Given the description of an element on the screen output the (x, y) to click on. 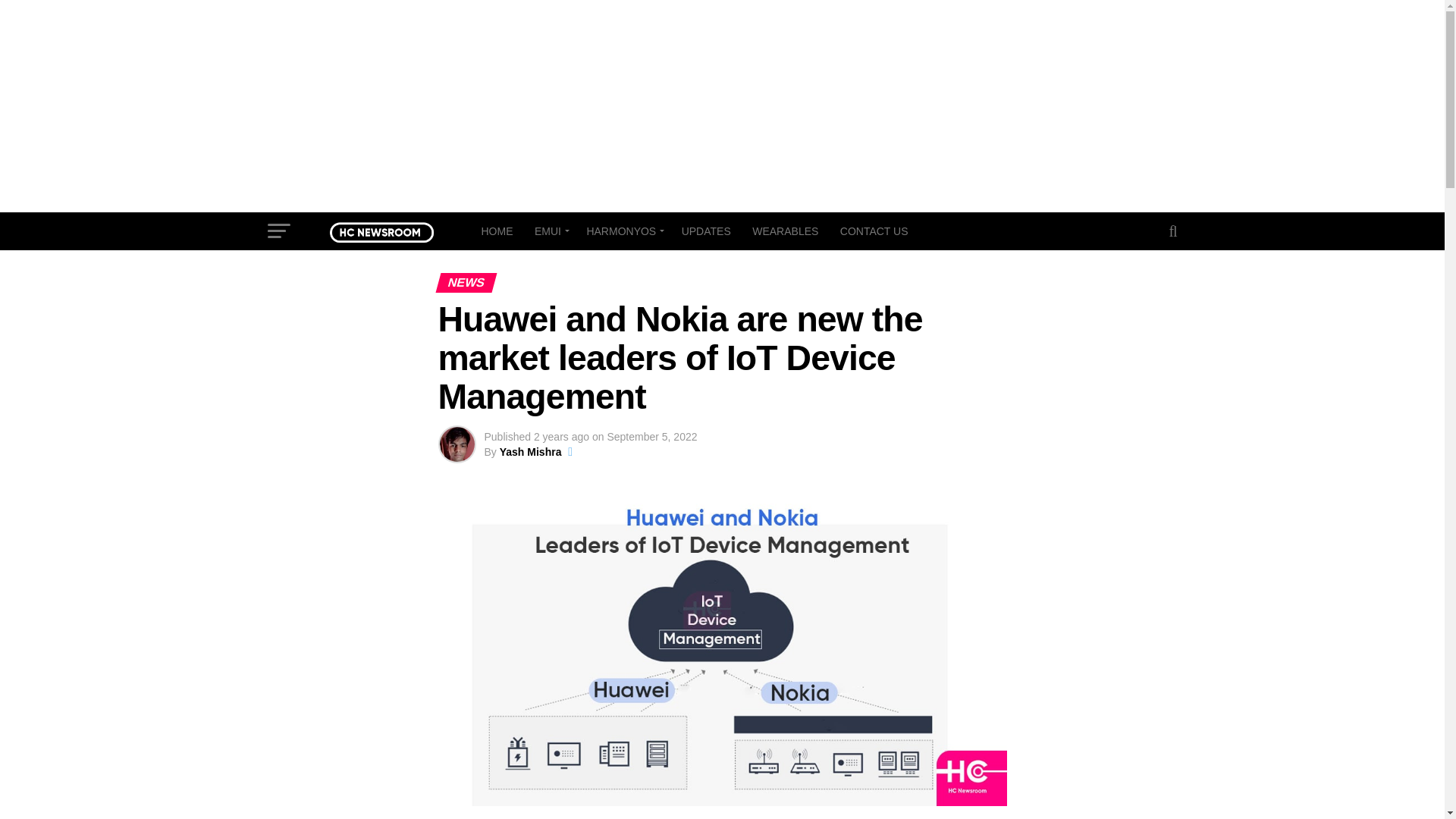
HOME (496, 231)
EMUI (549, 231)
Posts by Yash Mishra (530, 451)
HARMONYOS (622, 231)
UPDATES (705, 231)
